Given the description of an element on the screen output the (x, y) to click on. 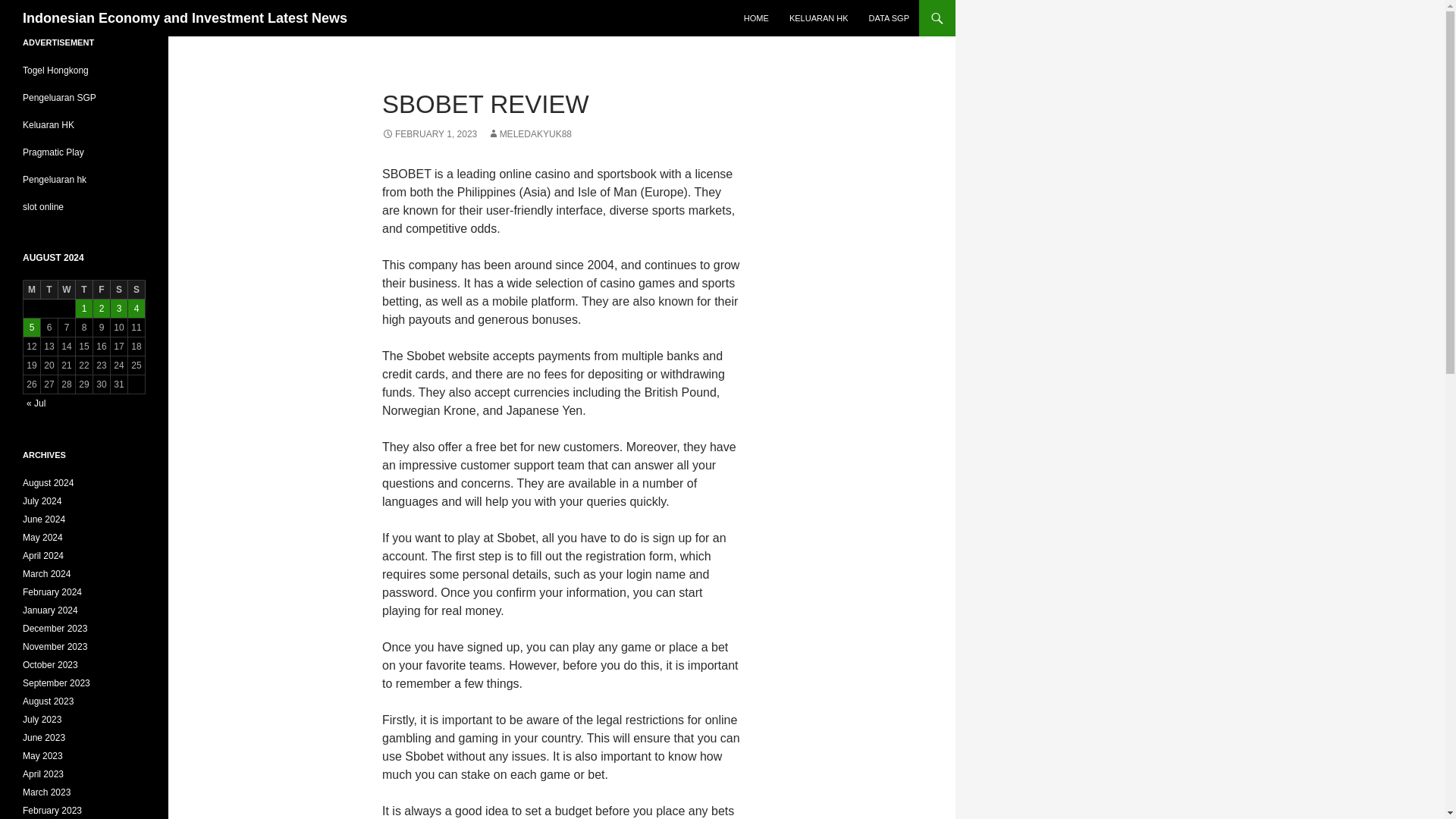
Tuesday (49, 289)
5 (31, 327)
Monday (31, 289)
4 (136, 308)
Indonesian Economy and Investment Latest News (185, 18)
July 2024 (42, 501)
Pengeluaran hk (54, 179)
Keluaran HK (48, 124)
DATA SGP (889, 18)
February 2024 (52, 592)
August 2023 (48, 701)
June 2024 (44, 519)
Saturday (119, 289)
HOME (756, 18)
December 2023 (55, 628)
